Given the description of an element on the screen output the (x, y) to click on. 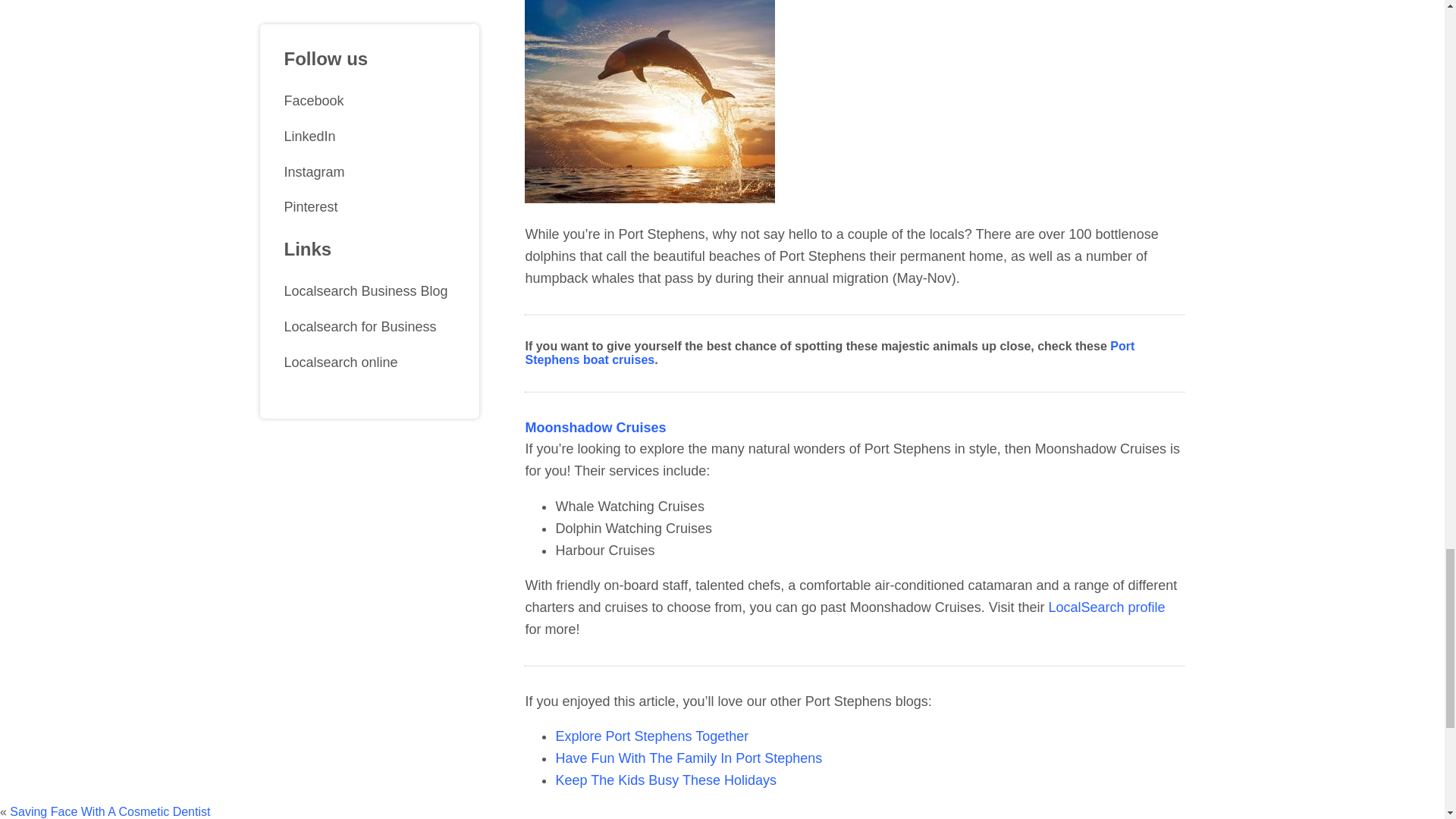
Port Stephens boat cruises (829, 352)
Moonshadow Cruises (594, 427)
Have Fun With The Family In Port Stephens (688, 758)
LocalSearch profile (1106, 607)
Explore Port Stephens Together (651, 735)
Keep The Kids Busy These Holidays (665, 780)
Saving Face With A Cosmetic Dentist (109, 811)
